Given the description of an element on the screen output the (x, y) to click on. 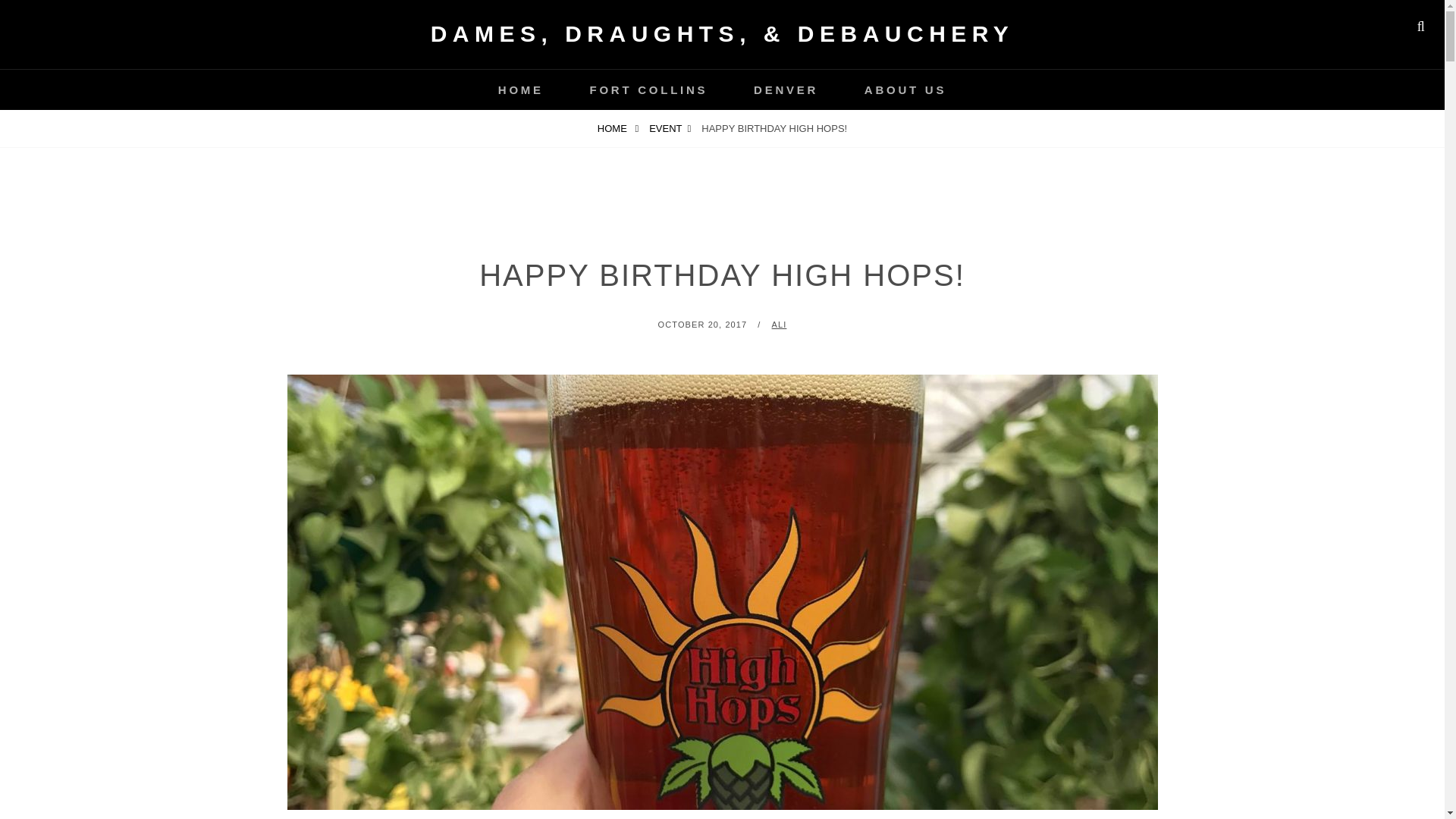
FORT COLLINS (649, 89)
DENVER (786, 89)
HOME (520, 89)
EVENT (669, 128)
HOME (617, 128)
ABOUT US (905, 89)
ALI (779, 324)
